Given the description of an element on the screen output the (x, y) to click on. 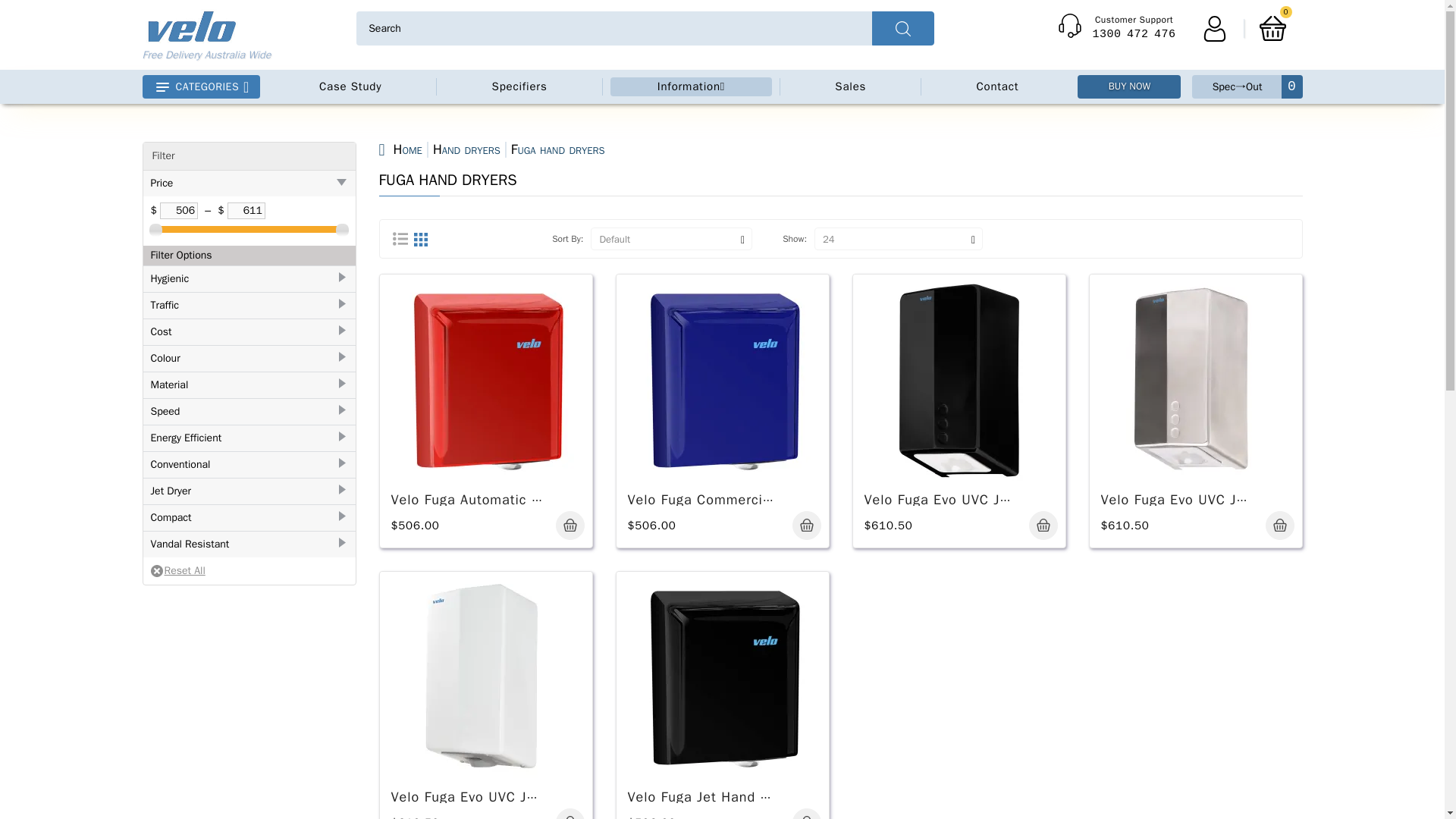
506 (179, 210)
Sales (849, 86)
Information (691, 86)
Add to Cart (806, 525)
Case Study (350, 86)
611 (1117, 28)
Velo Fuga Evo UVC Jet Hand Dryer - Stainless Steel  (245, 210)
My Account (1195, 380)
Velo Hand Dryers (1214, 27)
